Given the description of an element on the screen output the (x, y) to click on. 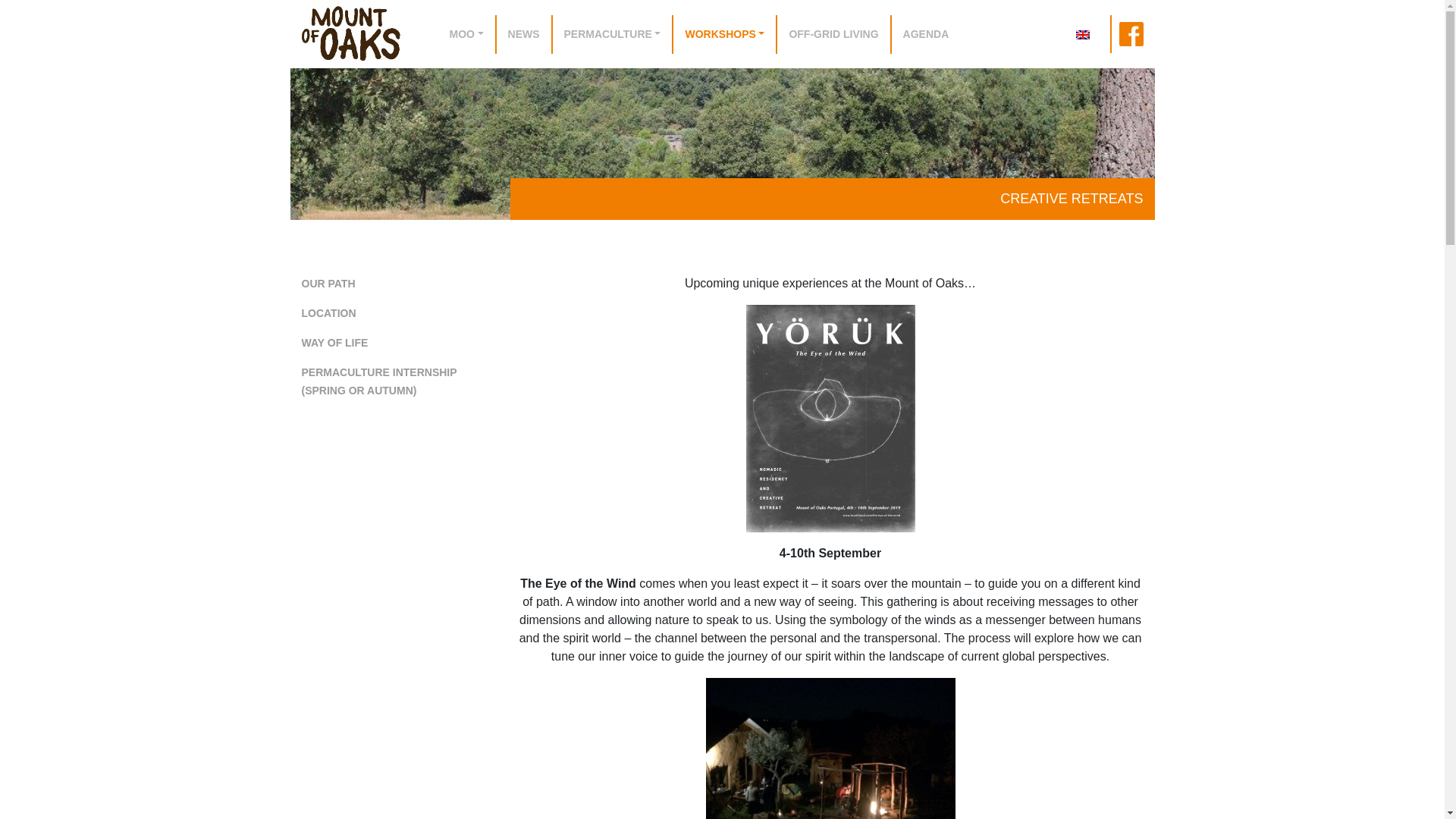
OFF-GRID LIVING (832, 34)
Permaculture (611, 34)
LOCATION (328, 313)
WORKSHOPS (723, 34)
Agenda (924, 34)
Workshops (723, 34)
News (523, 34)
PERMACULTURE (611, 34)
MOO (466, 34)
NEWS (523, 34)
